Given the description of an element on the screen output the (x, y) to click on. 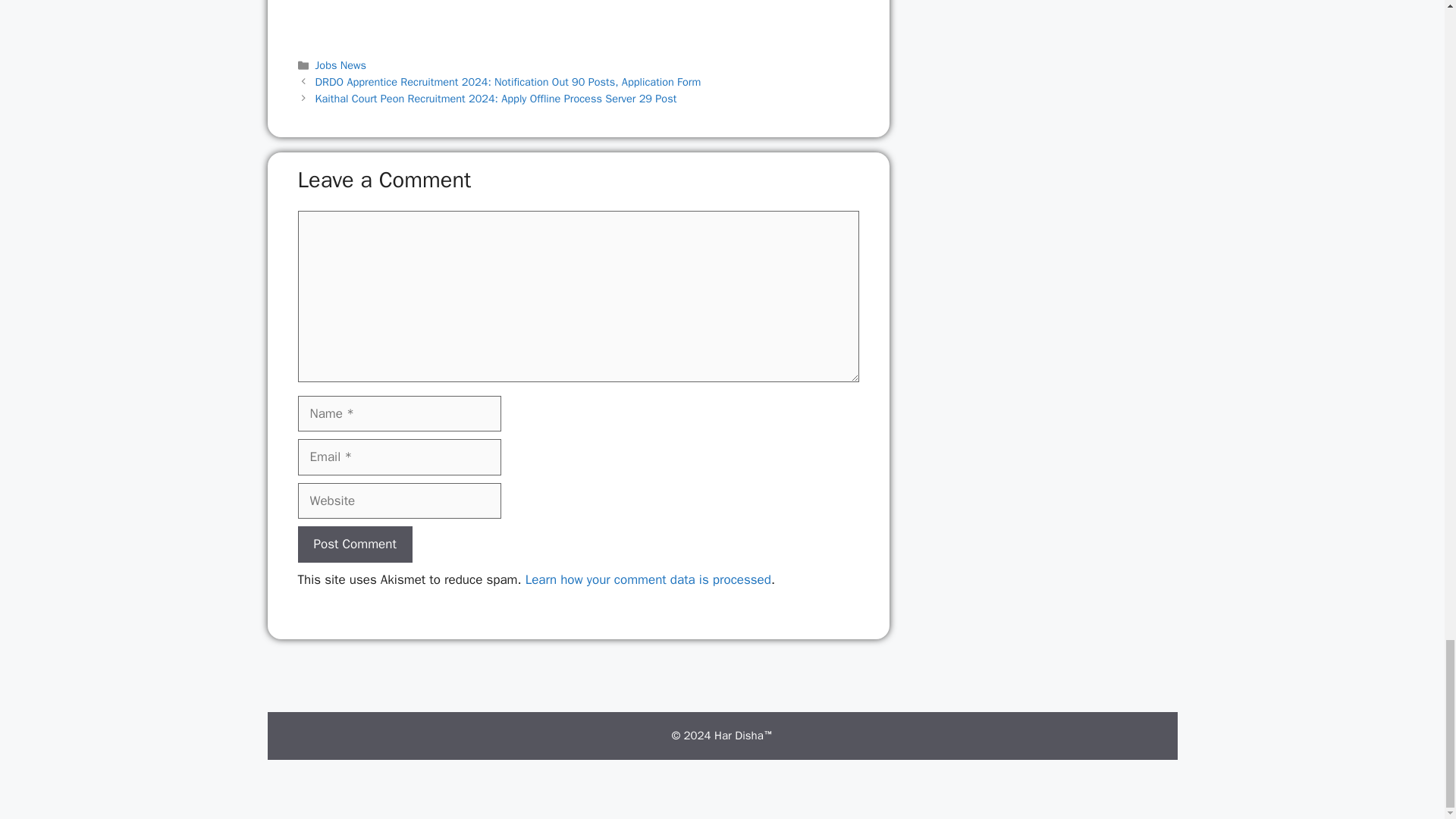
Post Comment (354, 544)
